Given the description of an element on the screen output the (x, y) to click on. 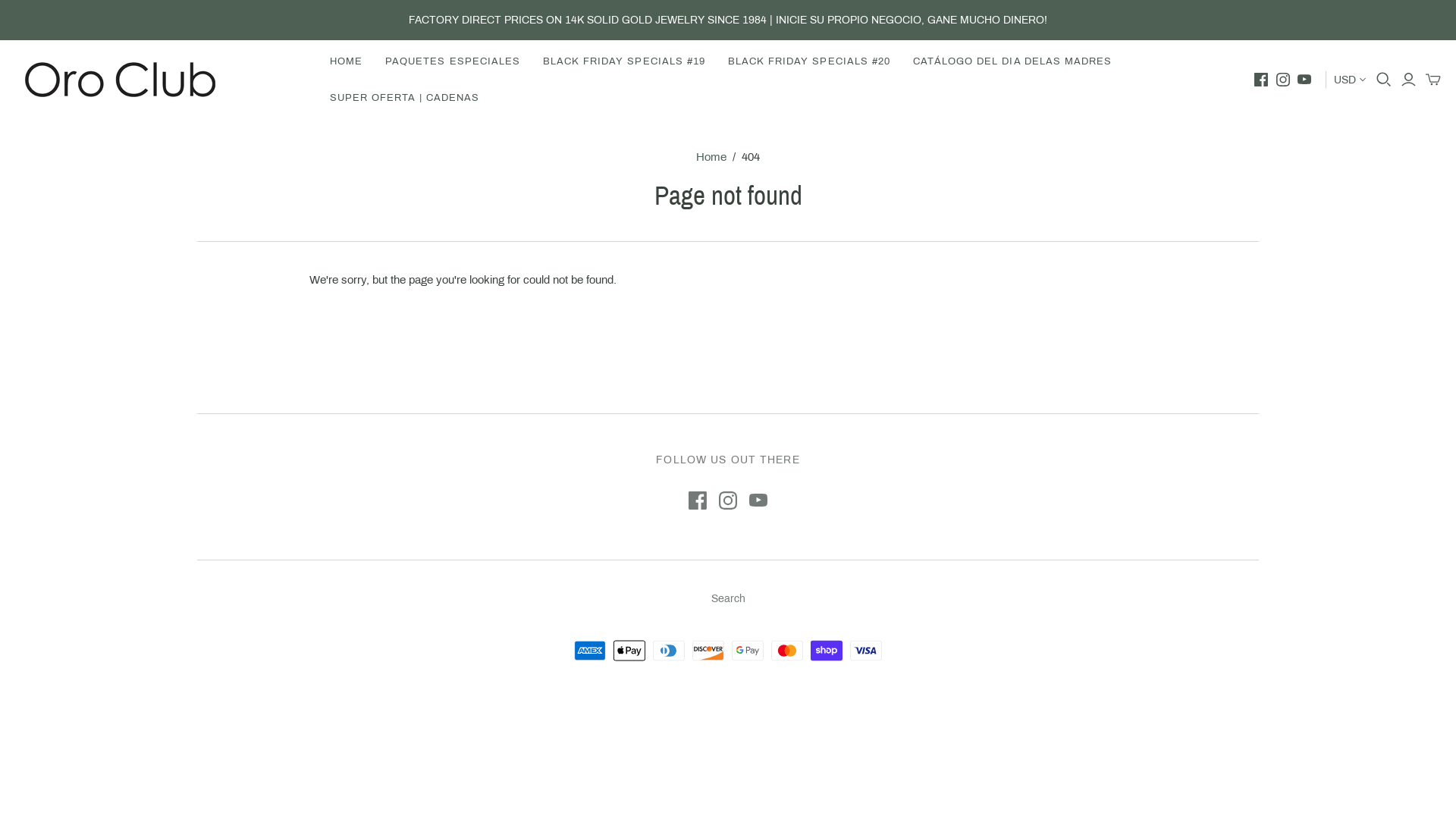
BLACK FRIDAY SPECIALS #19 Element type: text (623, 61)
Search Element type: text (728, 598)
Instagram Icon Element type: text (727, 500)
BLACK FRIDAY SPECIALS #20 Element type: text (808, 61)
PAQUETES ESPECIALES Element type: text (452, 61)
HOME Element type: text (345, 61)
SUPER OFERTA | CADENAS Element type: text (404, 97)
Youtube Icon Element type: text (758, 500)
Facebook Icon Element type: text (697, 500)
Home Element type: text (711, 156)
